Given the description of an element on the screen output the (x, y) to click on. 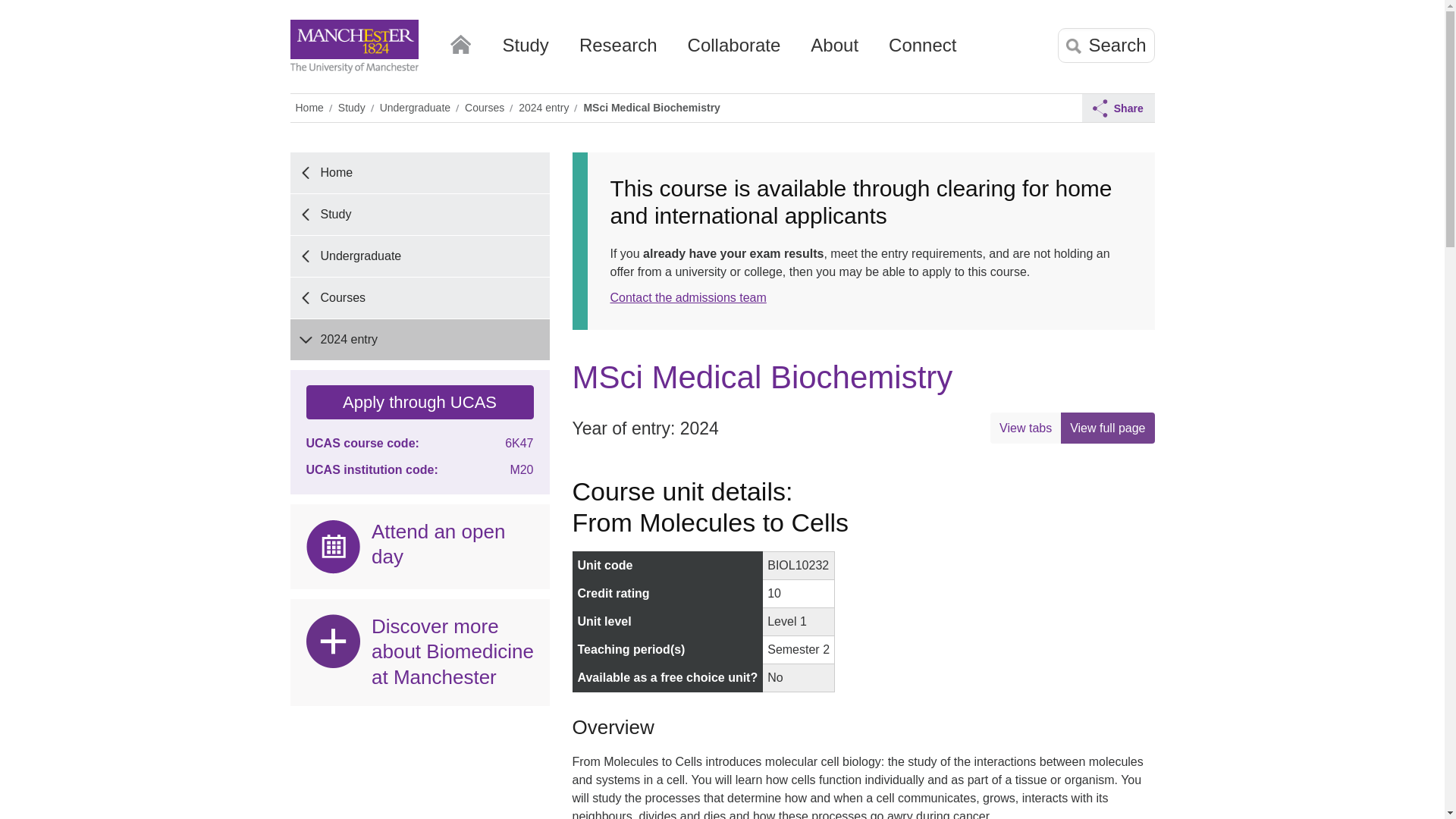
Study (524, 50)
Research at the University (618, 50)
Home (459, 41)
